Given the description of an element on the screen output the (x, y) to click on. 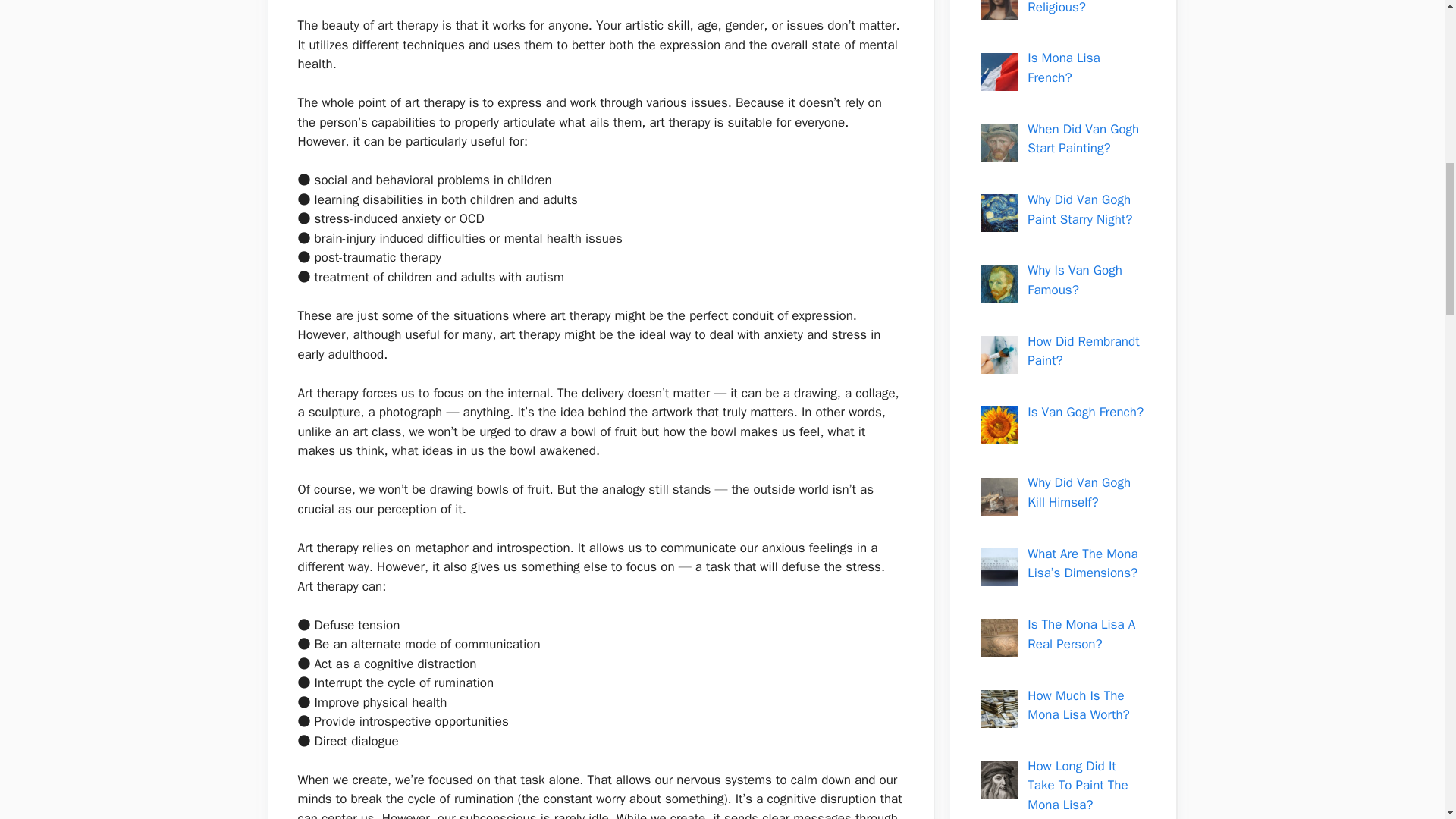
Is Mona Lisa French? (1063, 67)
Why Is Van Gogh Famous? (1074, 280)
Why Did Van Gogh Paint Starry Night? (1079, 209)
When Did Van Gogh Start Painting? (1082, 139)
Is Mona Lisa Religious? (1063, 7)
How Did Rembrandt Paint? (1082, 351)
